Given the description of an element on the screen output the (x, y) to click on. 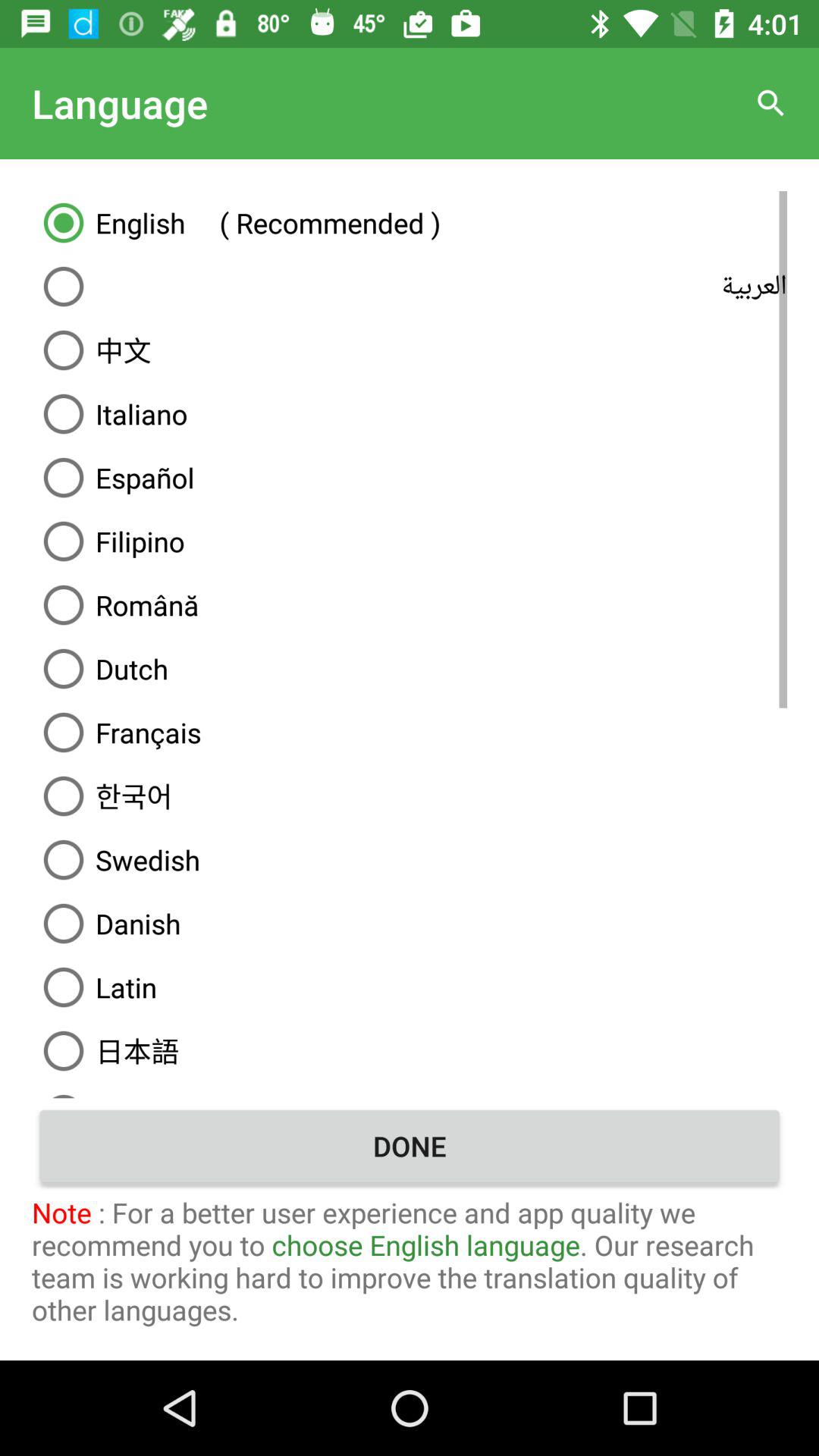
select italiano icon (409, 413)
